Given the description of an element on the screen output the (x, y) to click on. 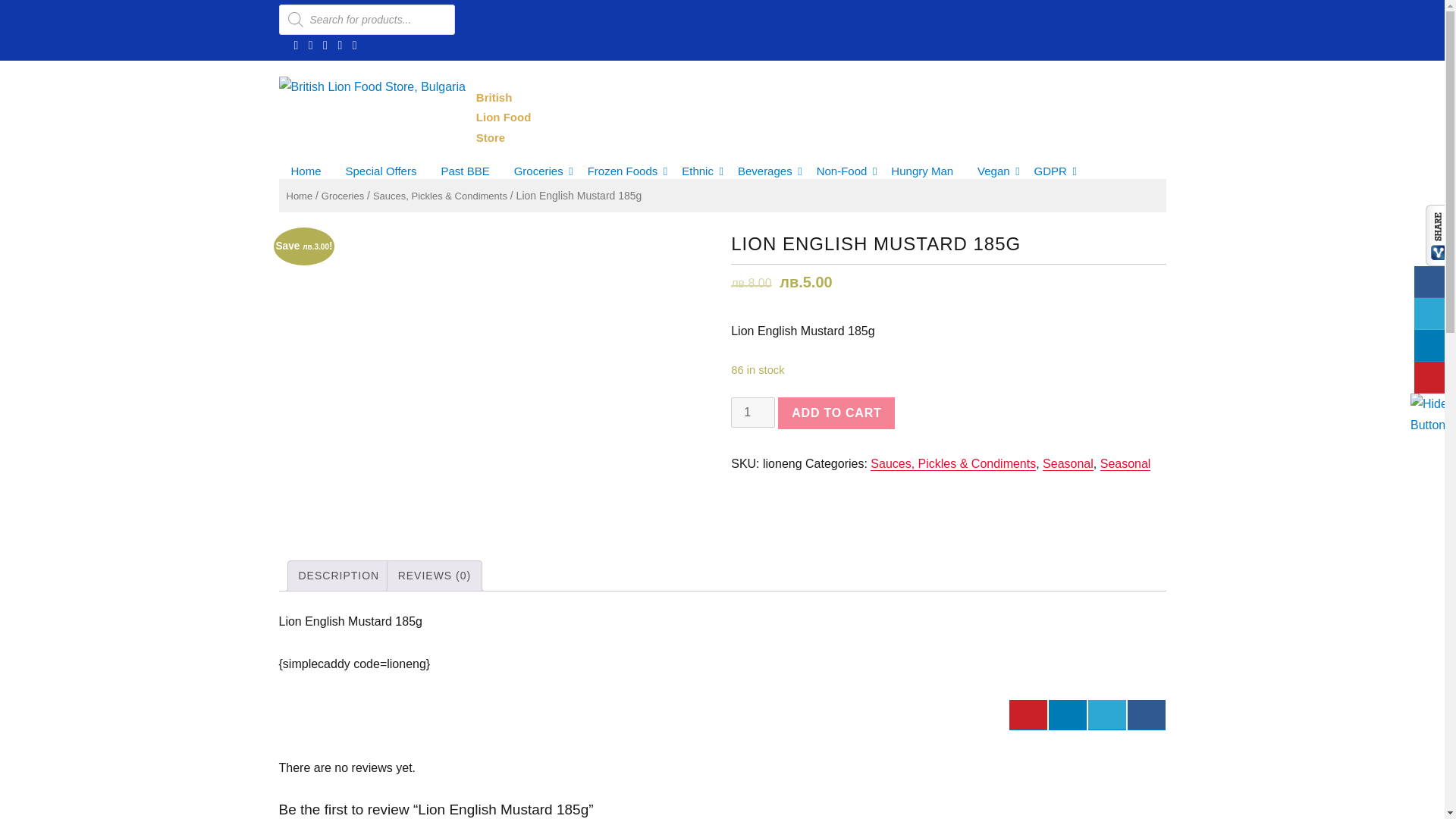
1 (752, 412)
Share On Linkedin (1067, 714)
Share On Pinterest (1027, 714)
Groceries (538, 170)
Home (306, 170)
Frozen Foods (622, 170)
Past BBE (464, 170)
Special Offers (381, 170)
Share On Twitter (1106, 714)
